Given the description of an element on the screen output the (x, y) to click on. 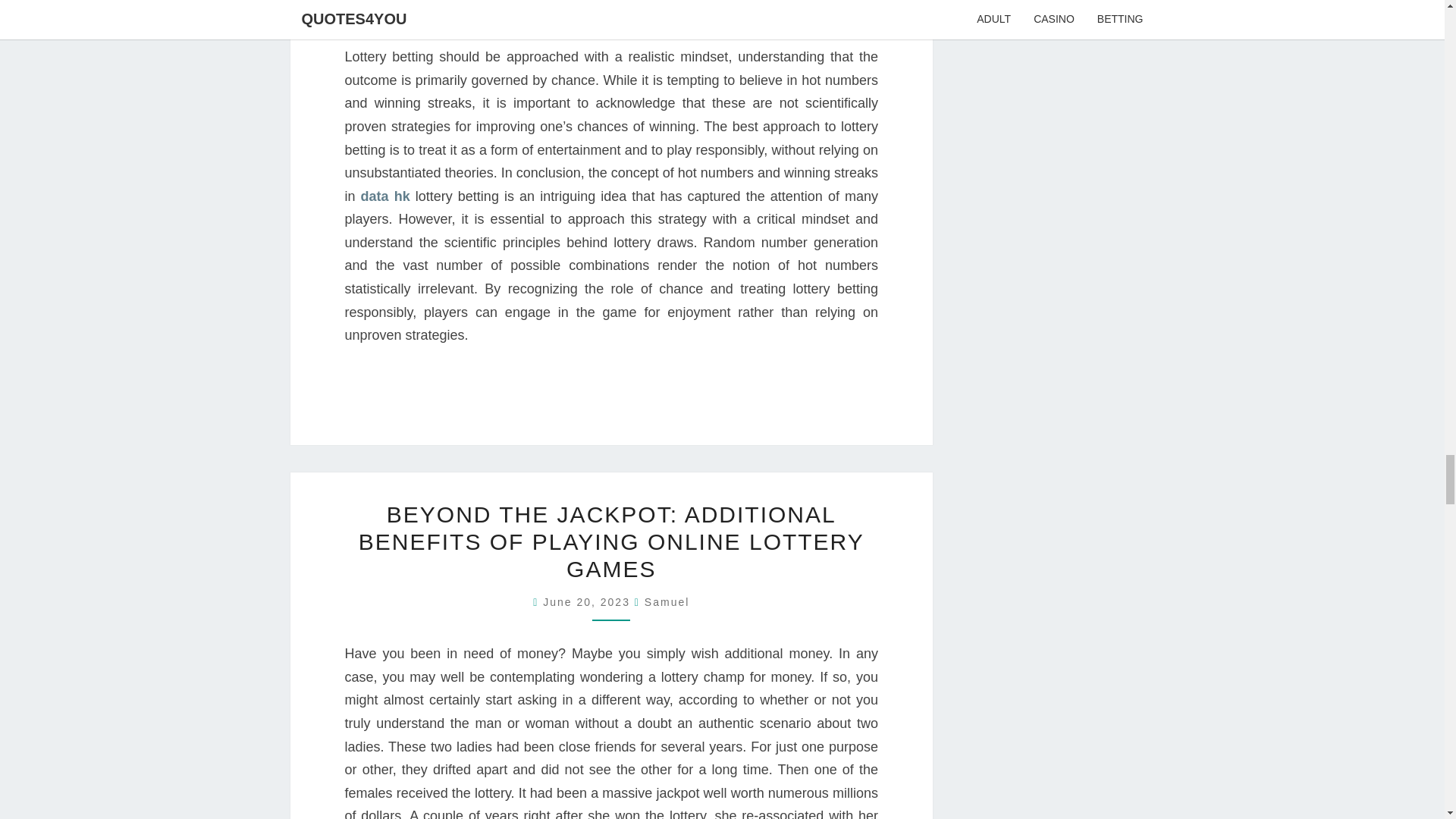
View all posts by Samuel (666, 602)
data hk (385, 196)
Samuel (666, 602)
4:58 am (588, 602)
June 20, 2023 (588, 602)
